Given the description of an element on the screen output the (x, y) to click on. 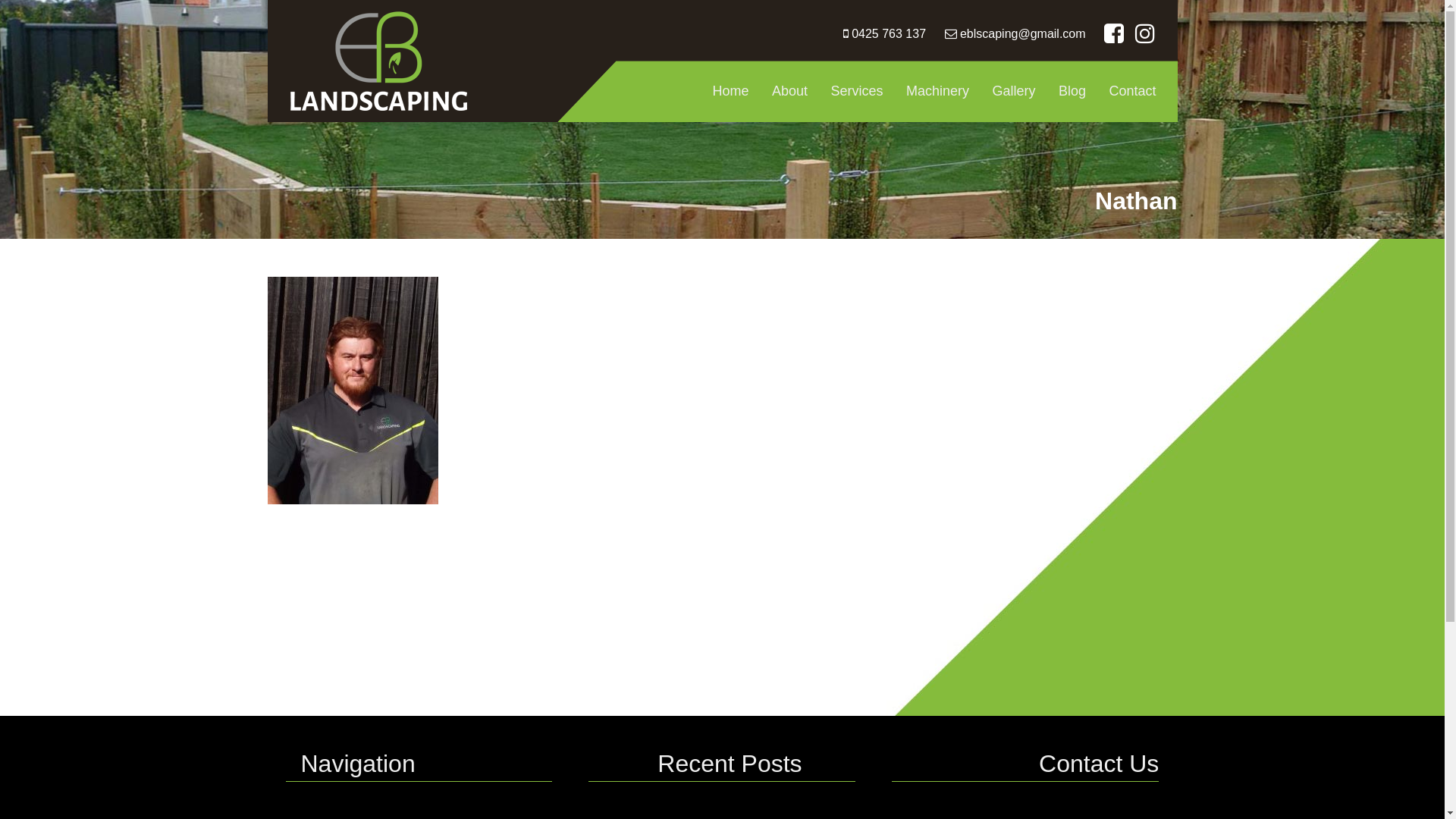
Machinery Element type: text (937, 90)
Blog Element type: text (1071, 90)
Gallery Element type: text (1013, 90)
Home Element type: text (730, 90)
Contact Element type: text (1131, 90)
About Element type: text (789, 90)
Services Element type: text (857, 90)
